Given the description of an element on the screen output the (x, y) to click on. 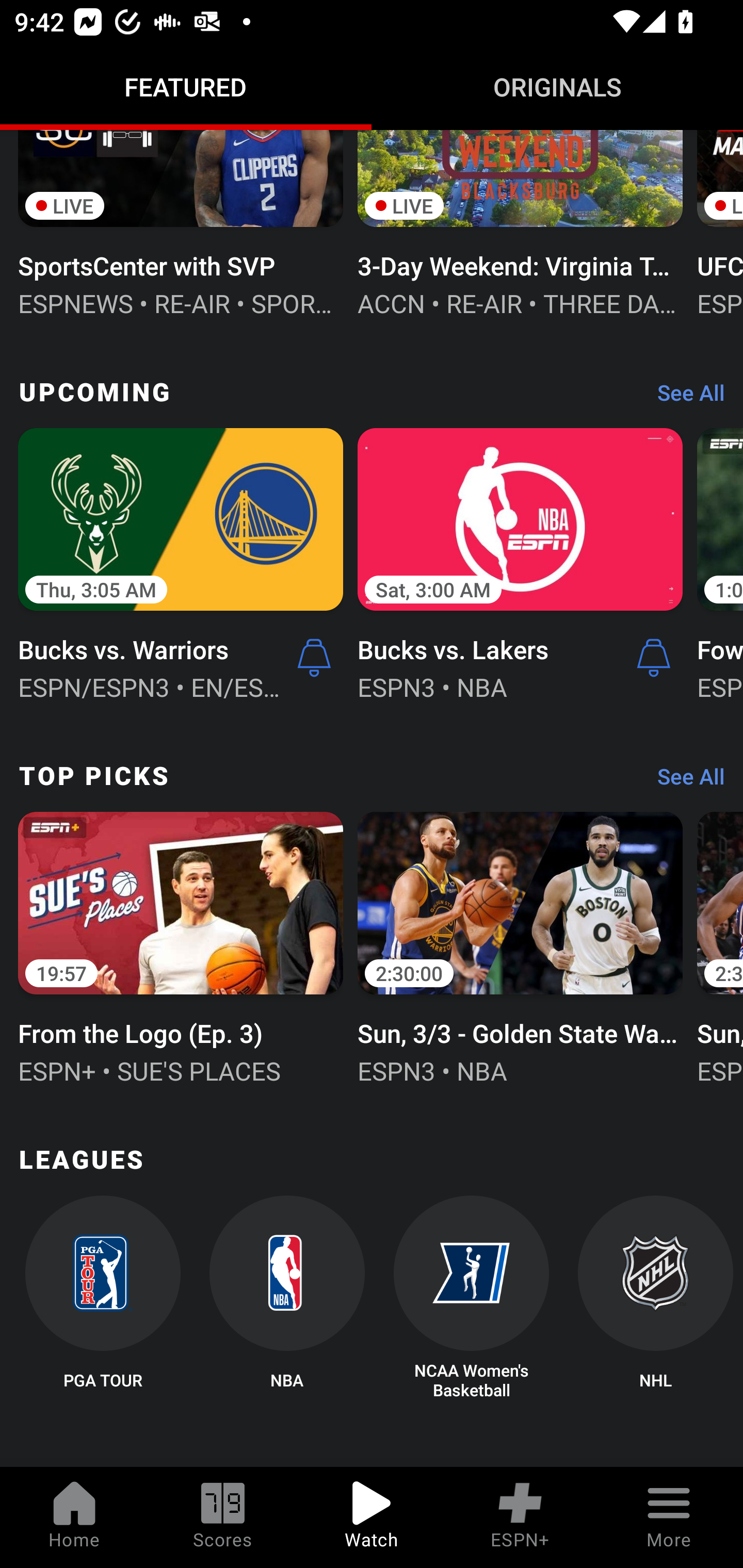
Originals ORIGINALS (557, 86)
See All (683, 397)
Alerts (314, 657)
Alerts (653, 657)
See All (683, 781)
19:57 From the Logo (Ep. 3) ESPN+ • SUE'S PLACES (180, 946)
PGA TOUR (102, 1297)
NBA (286, 1297)
NCAA Women's Basketball (471, 1297)
NHL (655, 1297)
Home (74, 1517)
Scores (222, 1517)
ESPN+ (519, 1517)
More (668, 1517)
